Given the description of an element on the screen output the (x, y) to click on. 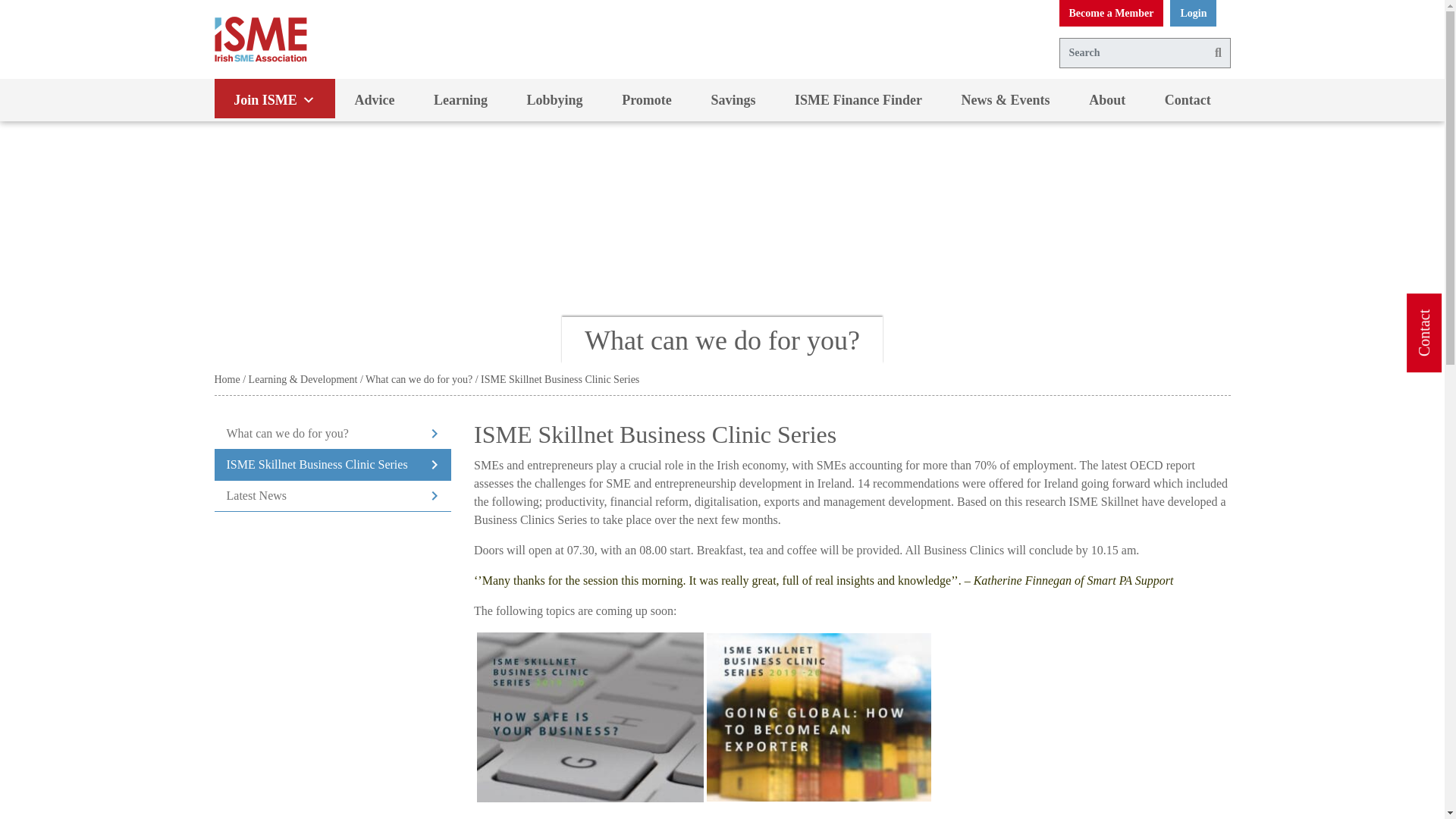
Login (1192, 13)
Join ISME (274, 99)
About (1106, 99)
Lobbying (554, 99)
ISME Finance Finder (858, 99)
Savings (733, 99)
Promote (646, 99)
Become a Member (1110, 13)
Learning (459, 99)
Advice (374, 99)
